Given the description of an element on the screen output the (x, y) to click on. 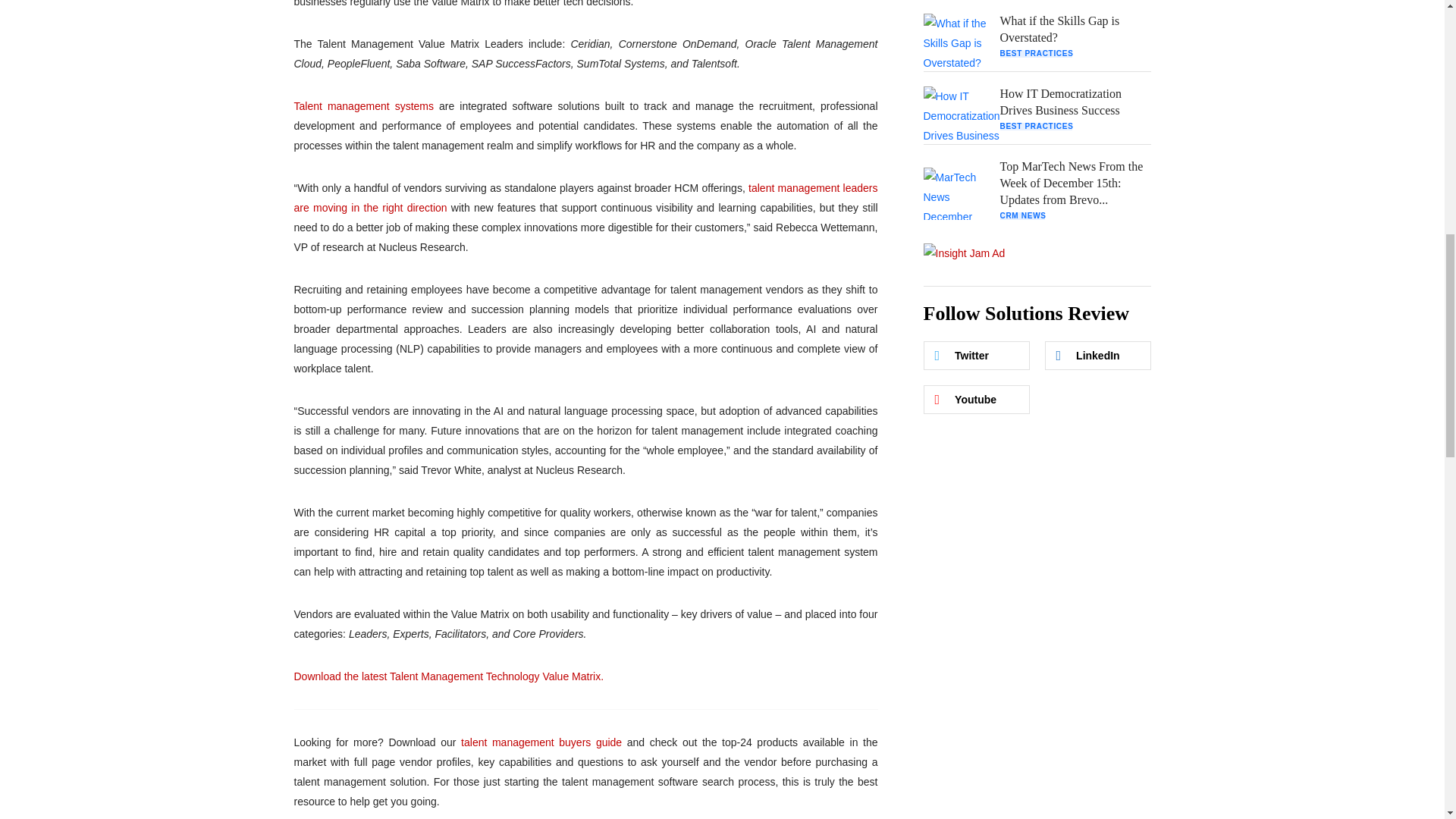
talent management buyers guide (541, 742)
Insight Jam Ad (964, 252)
talent management leaders are moving in the right direction (585, 197)
Talent management systems (363, 105)
